Given the description of an element on the screen output the (x, y) to click on. 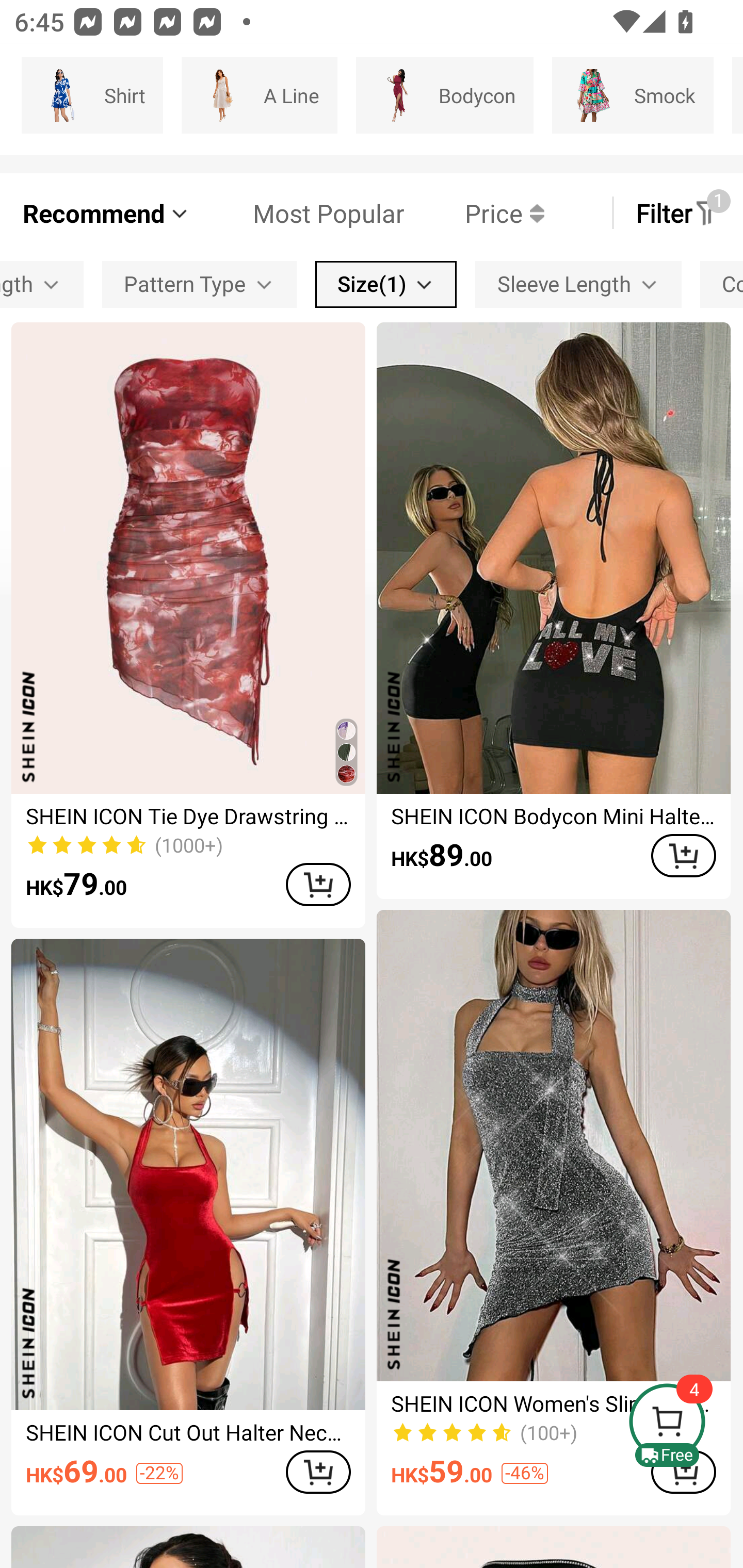
Shirt (91, 95)
A Line (259, 95)
Bodycon (444, 95)
Smock (632, 95)
Recommend (106, 213)
Most Popular (297, 213)
Price (474, 213)
Filter 1 (677, 213)
Length (41, 283)
Pattern Type (199, 283)
Size(1) (385, 283)
Sleeve Length (578, 283)
ADD TO CART (683, 856)
ADD TO CART (318, 884)
Free (685, 1424)
ADD TO CART (318, 1472)
